Given the description of an element on the screen output the (x, y) to click on. 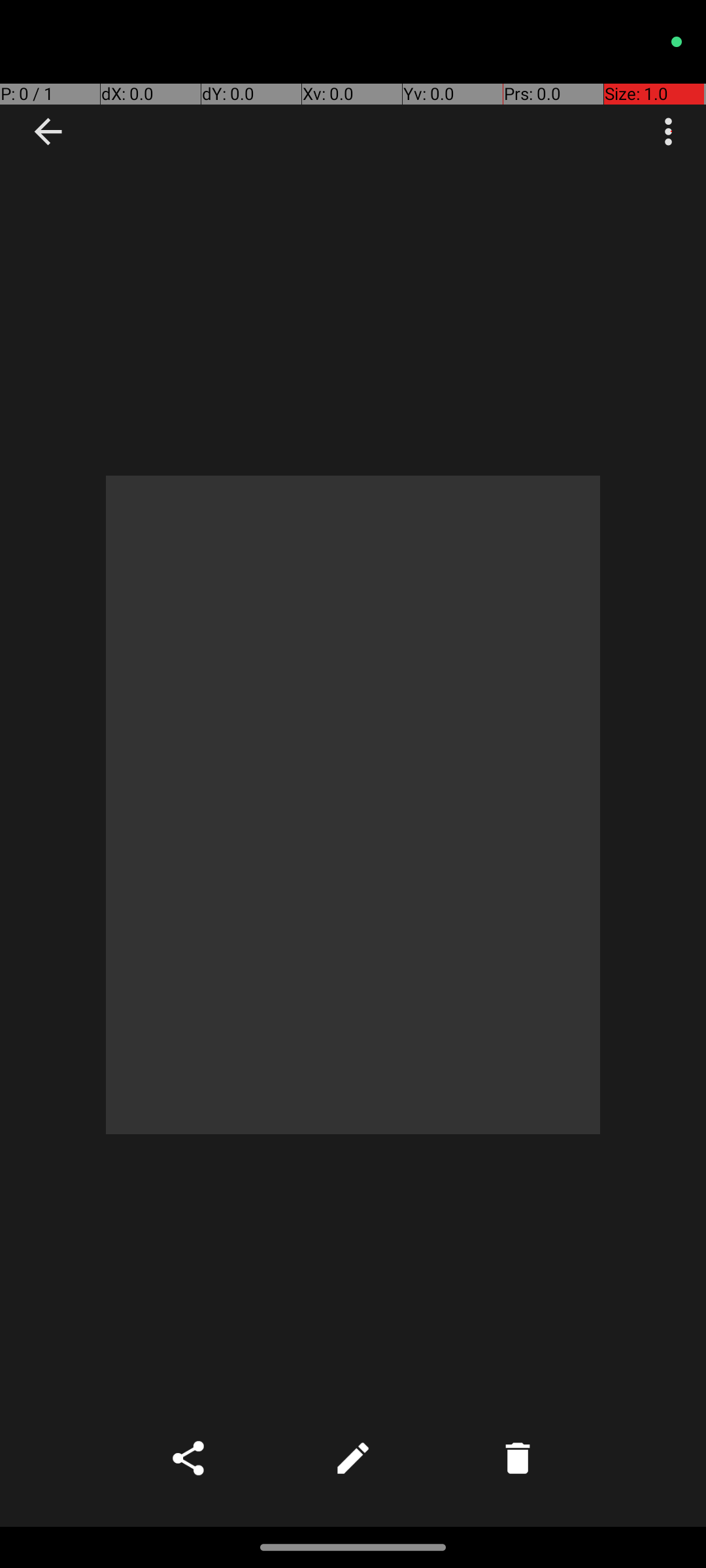
Edit Element type: android.widget.ImageButton (352, 1458)
Delete Element type: android.widget.ImageButton (517, 1458)
Navigate up Element type: android.widget.ImageButton (48, 131)
Photo taken on Oct 15, 2023 15:34:17 Element type: android.widget.ImageView (352, 804)
